Given the description of an element on the screen output the (x, y) to click on. 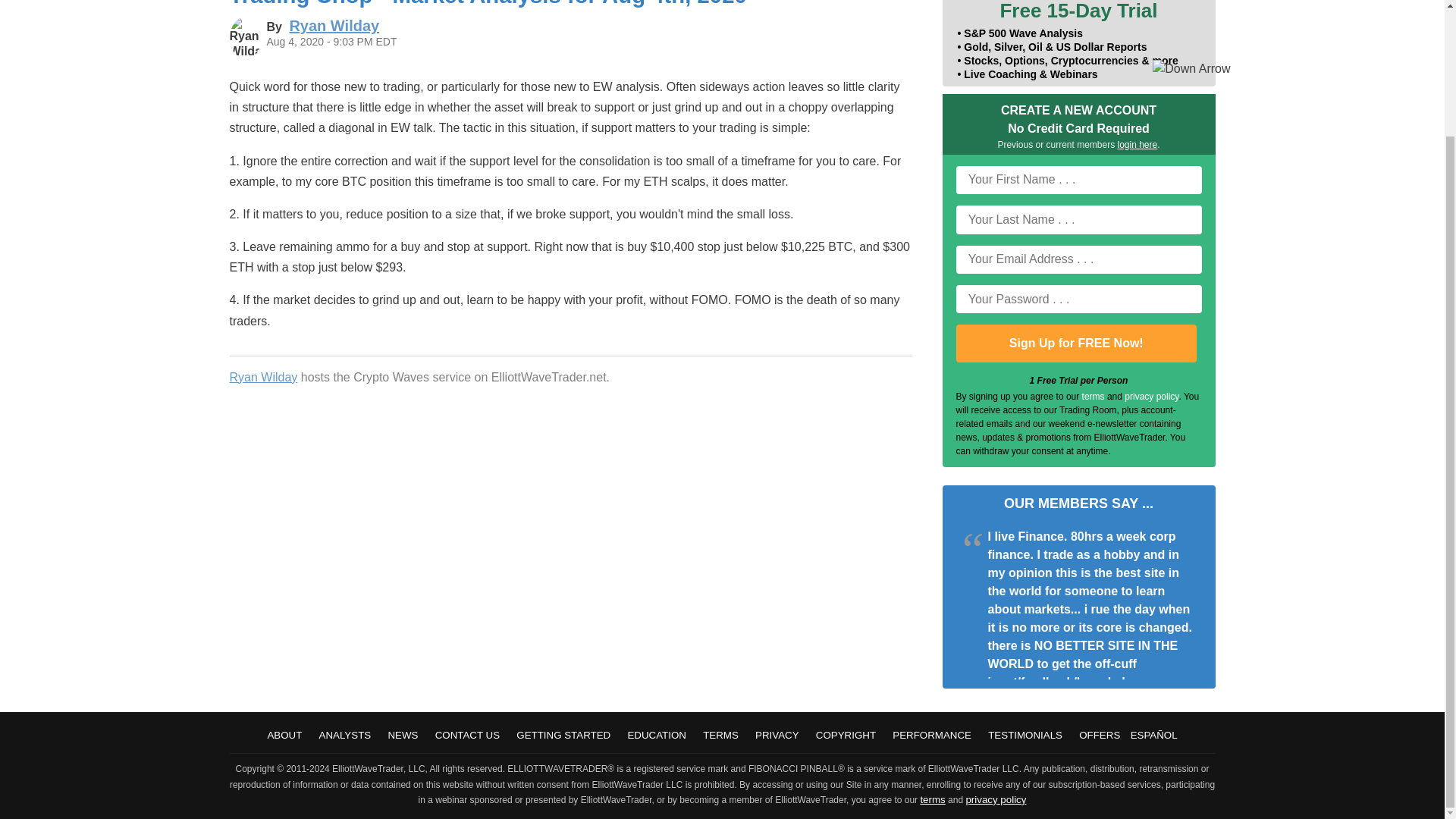
privacy policy (1150, 396)
EDUCATION (656, 735)
Your Email Address (1078, 259)
TESTIMONIALS (1025, 735)
login here (1137, 144)
TERMS (720, 735)
privacy policy (995, 799)
PRIVACY (777, 735)
GETTING STARTED (563, 735)
Sign Up for FREE Now! (1075, 343)
ANALYSTS (344, 735)
PERFORMANCE (931, 735)
Your First Name (1078, 180)
COPYRIGHT (845, 735)
Sign Up for FREE Now! (1075, 343)
